Given the description of an element on the screen output the (x, y) to click on. 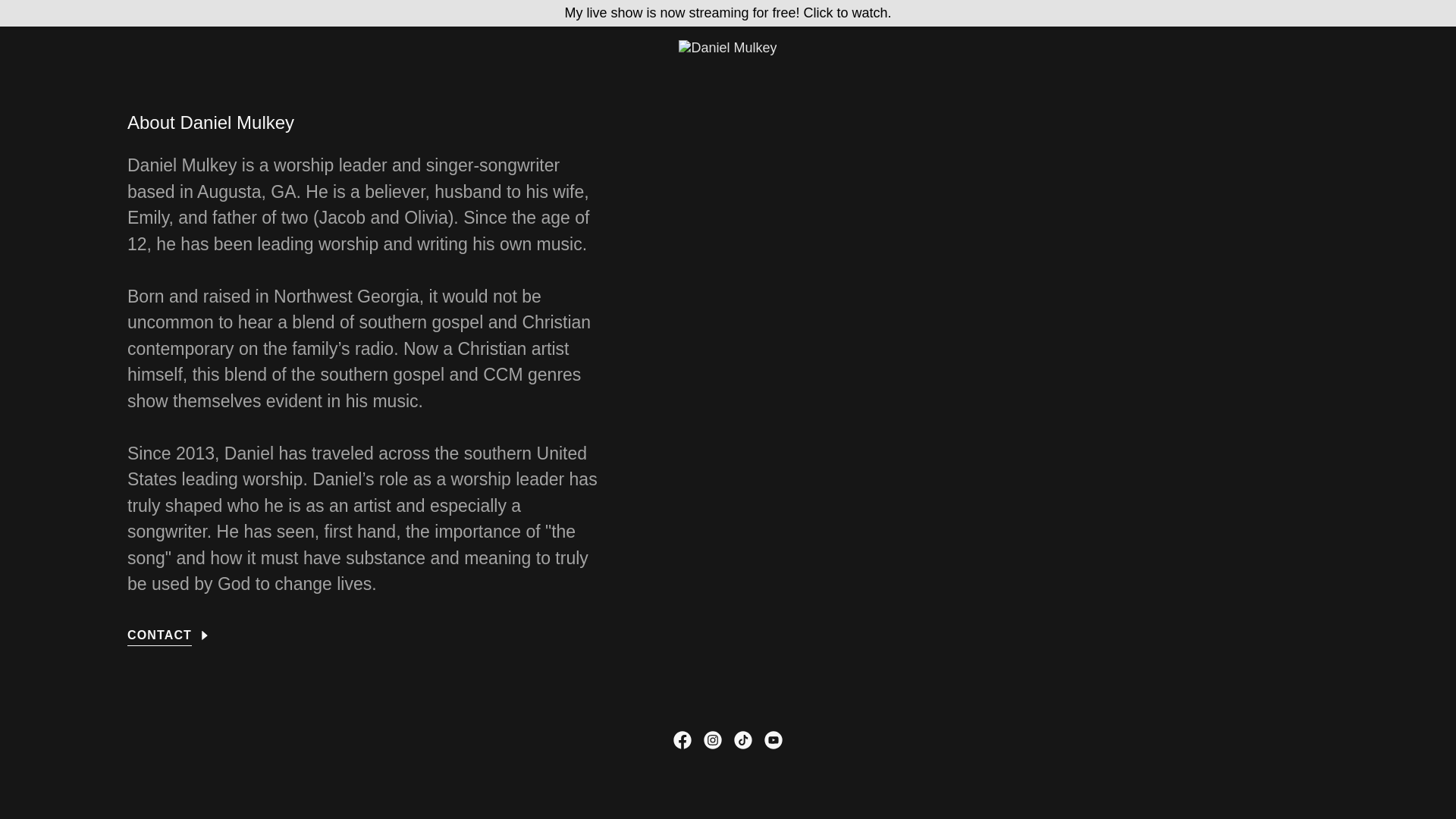
Daniel Mulkey (727, 46)
CONTACT (169, 630)
